Given the description of an element on the screen output the (x, y) to click on. 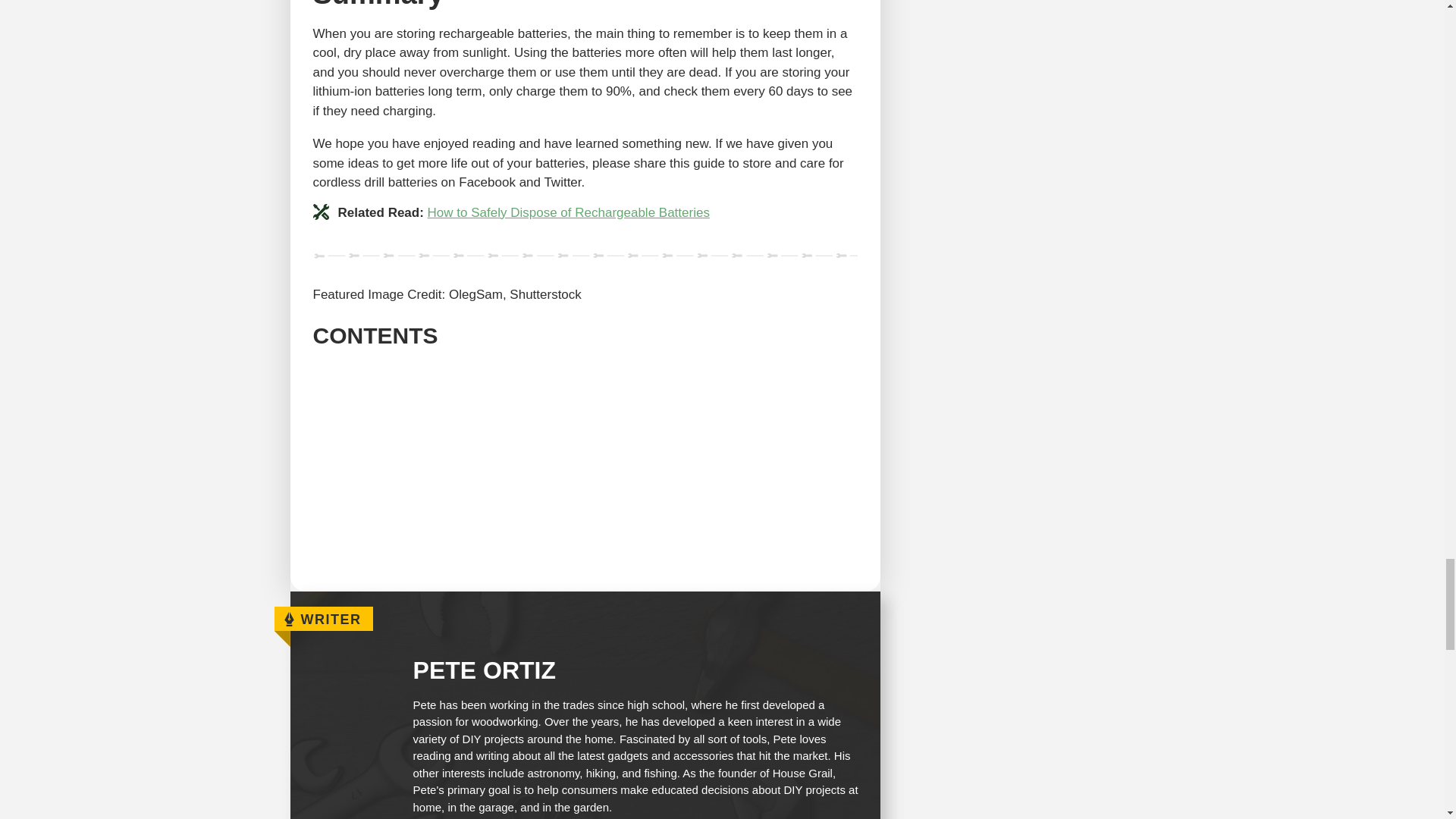
How to Safely Dispose of Rechargeable Batteries (569, 212)
